Given the description of an element on the screen output the (x, y) to click on. 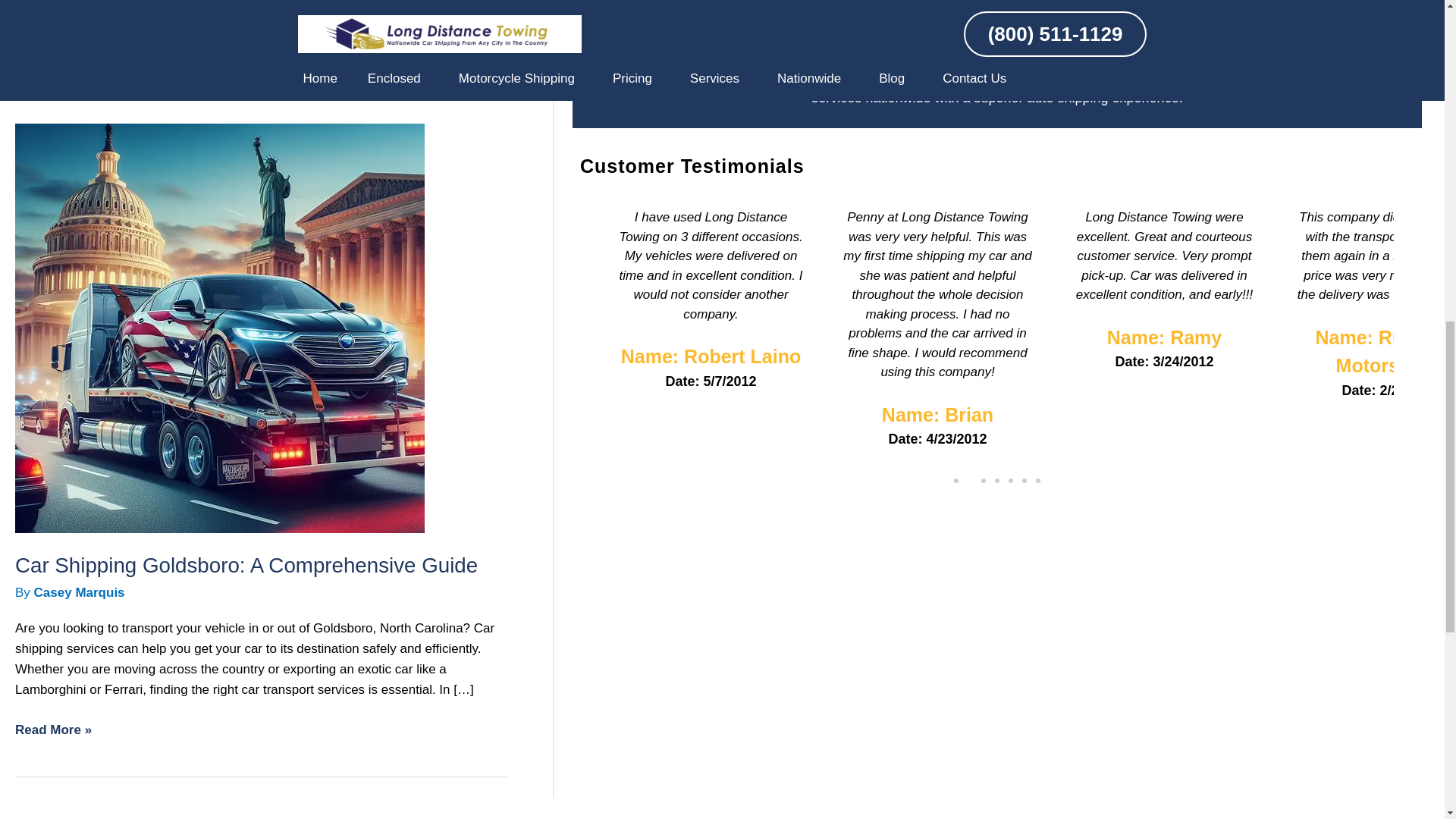
View all posts by Casey Marquis (79, 592)
